Given the description of an element on the screen output the (x, y) to click on. 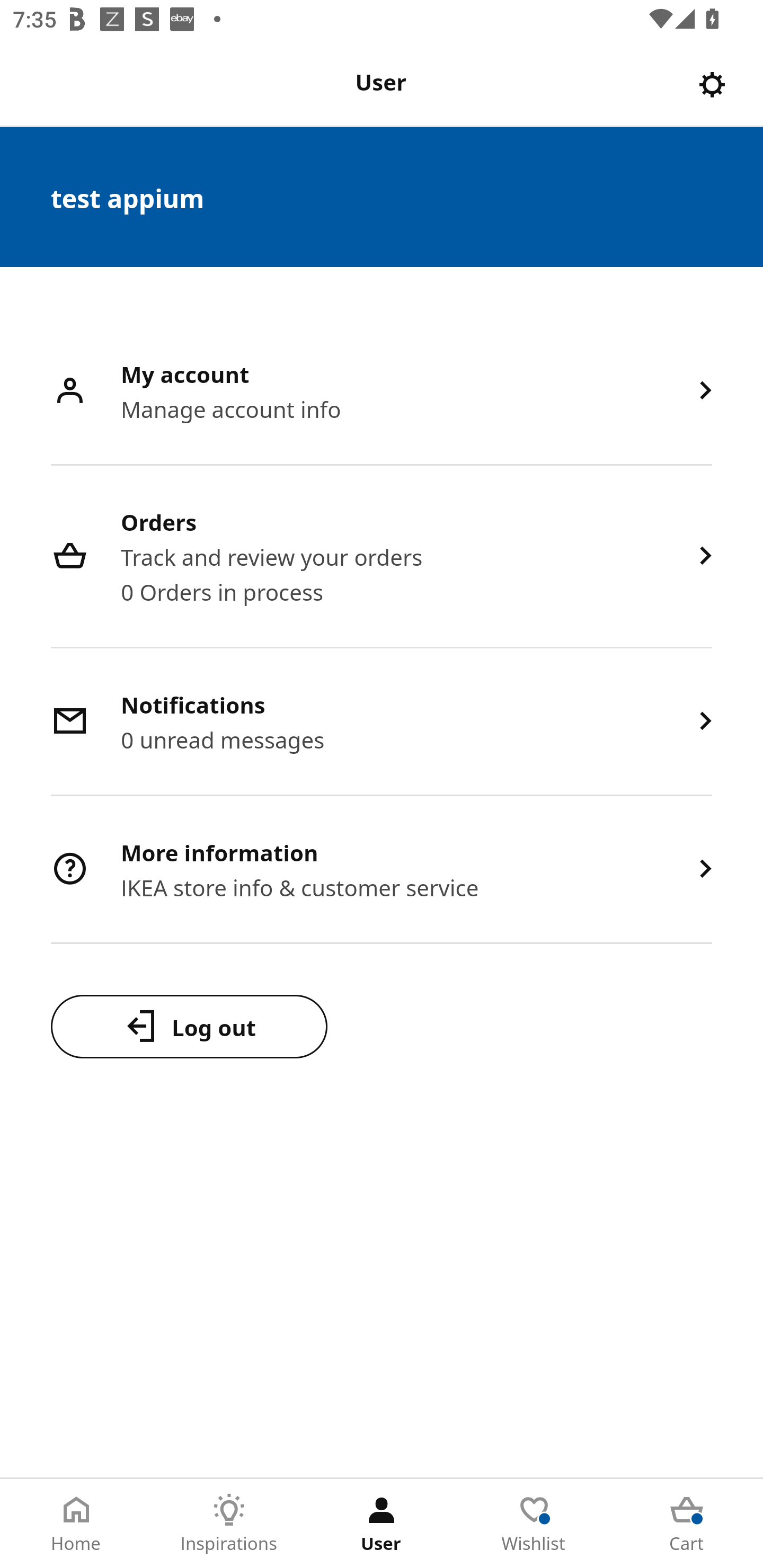
My account
Manage account info (381, 391)
Notifications
0 unread messages (381, 722)
Log out (189, 1026)
Home
Tab 1 of 5 (76, 1522)
Inspirations
Tab 2 of 5 (228, 1522)
User
Tab 3 of 5 (381, 1522)
Wishlist
Tab 4 of 5 (533, 1522)
Cart
Tab 5 of 5 (686, 1522)
